Given the description of an element on the screen output the (x, y) to click on. 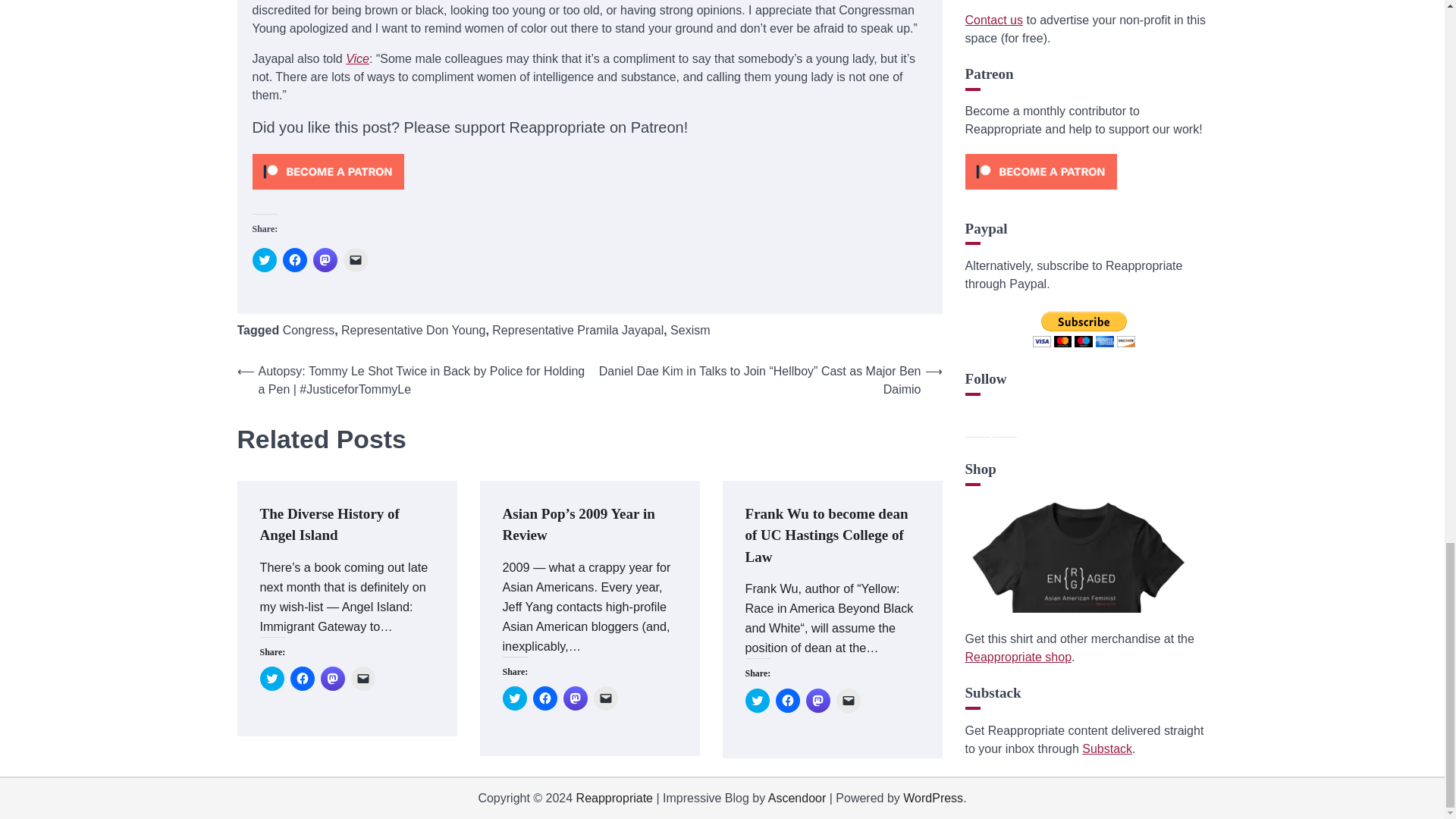
Click to share on Twitter (513, 698)
Click to share on Twitter (271, 678)
Click to share on Facebook (301, 678)
Click to email a link to a friend (604, 698)
Click to share on Mastodon (331, 678)
Click to share on Mastodon (817, 700)
Click to share on Facebook (786, 700)
Click to share on Twitter (756, 700)
Click to share on Facebook (544, 698)
Click to share on Twitter (263, 259)
